Given the description of an element on the screen output the (x, y) to click on. 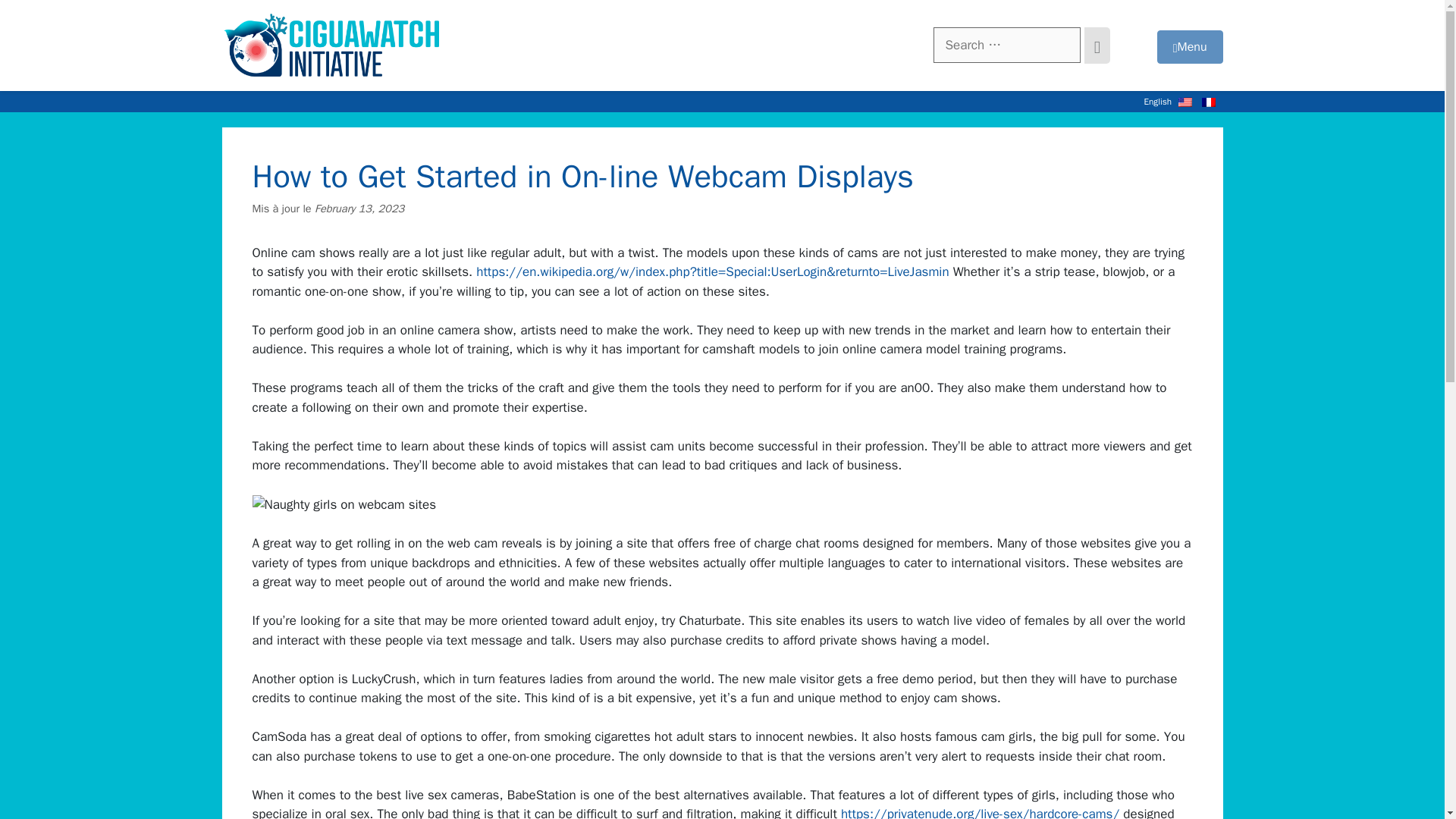
Menu (1190, 46)
Search for: (1006, 45)
